Given the description of an element on the screen output the (x, y) to click on. 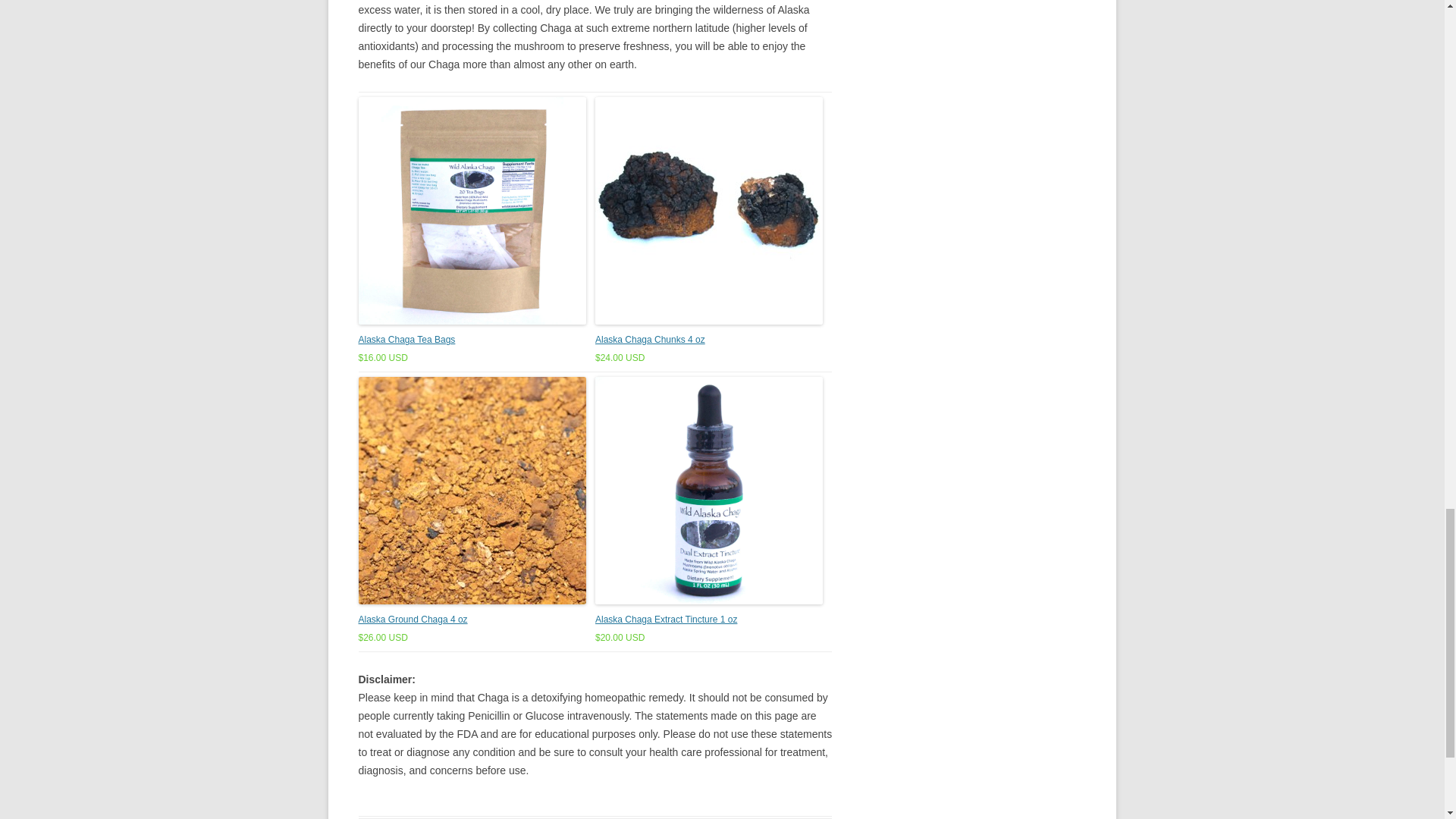
Alaska Ground Chaga 4 oz (412, 619)
Alaska Chaga Chunks 4 oz (649, 339)
Alaska Chaga Tea Bags (406, 339)
Alaska Chaga Extract Tincture 1 oz (665, 619)
